Given the description of an element on the screen output the (x, y) to click on. 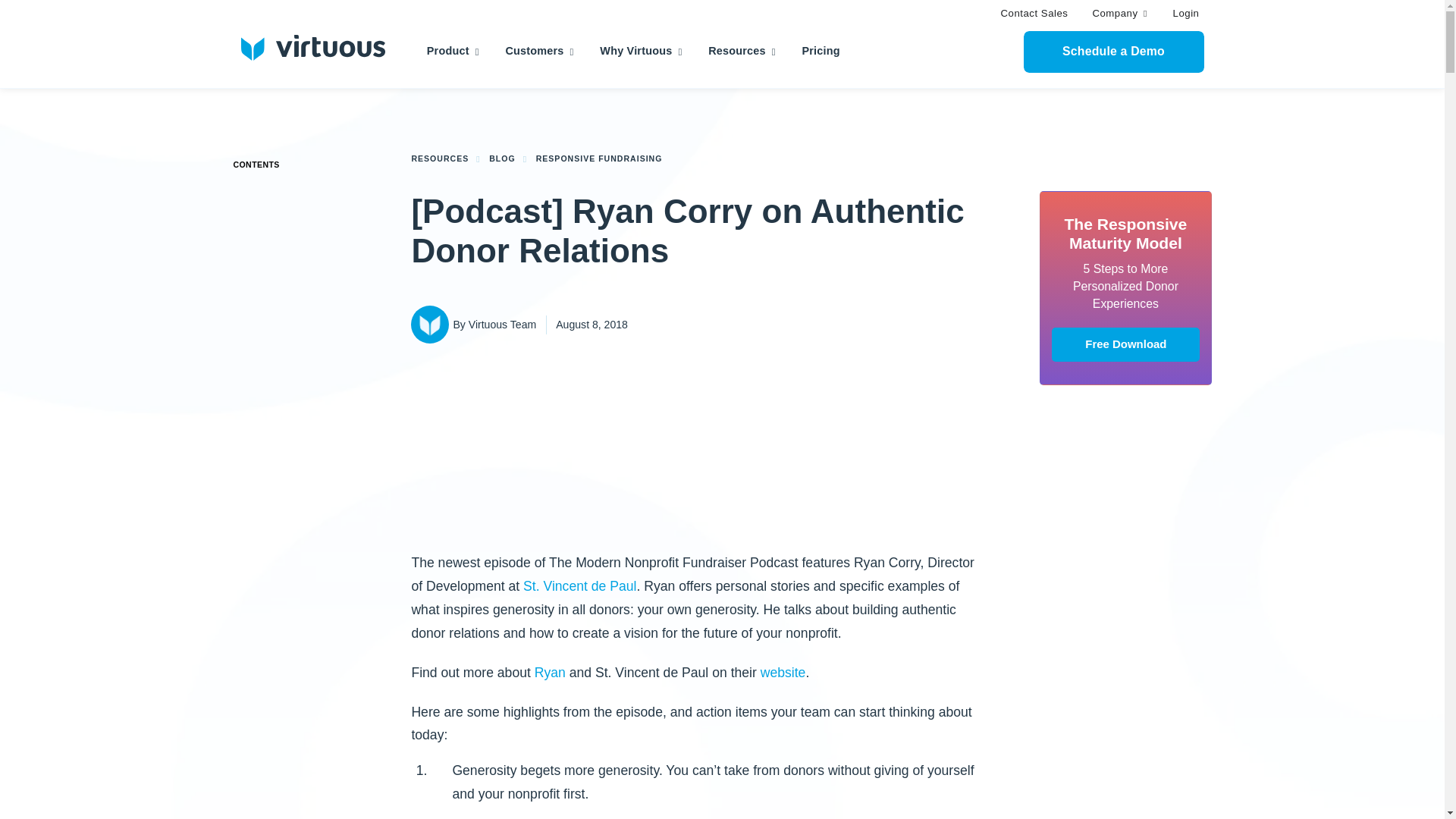
Contact Sales (1033, 13)
Login (1186, 13)
